Given the description of an element on the screen output the (x, y) to click on. 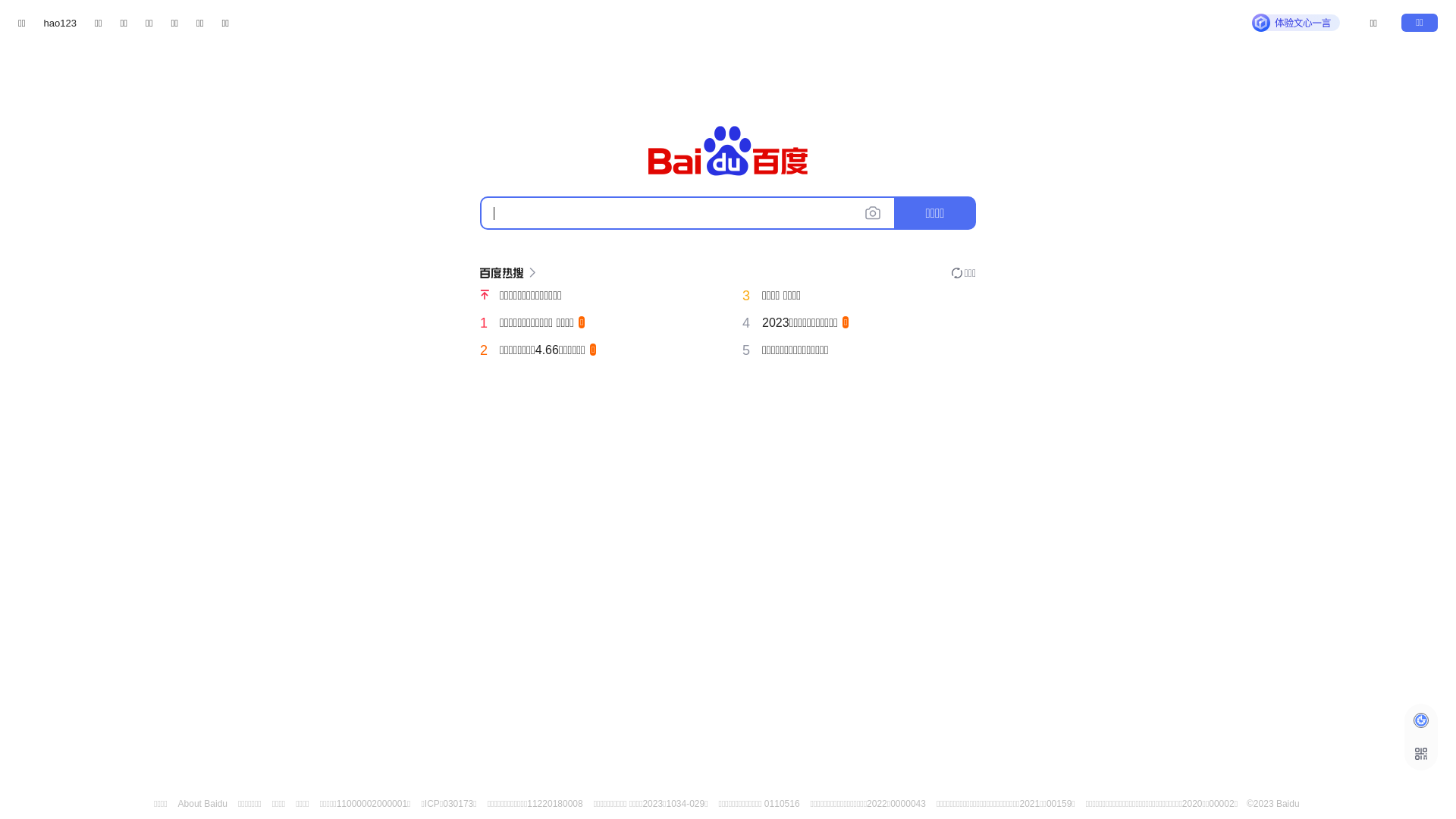
hao123 Element type: text (59, 22)
About Baidu Element type: text (202, 803)
